Given the description of an element on the screen output the (x, y) to click on. 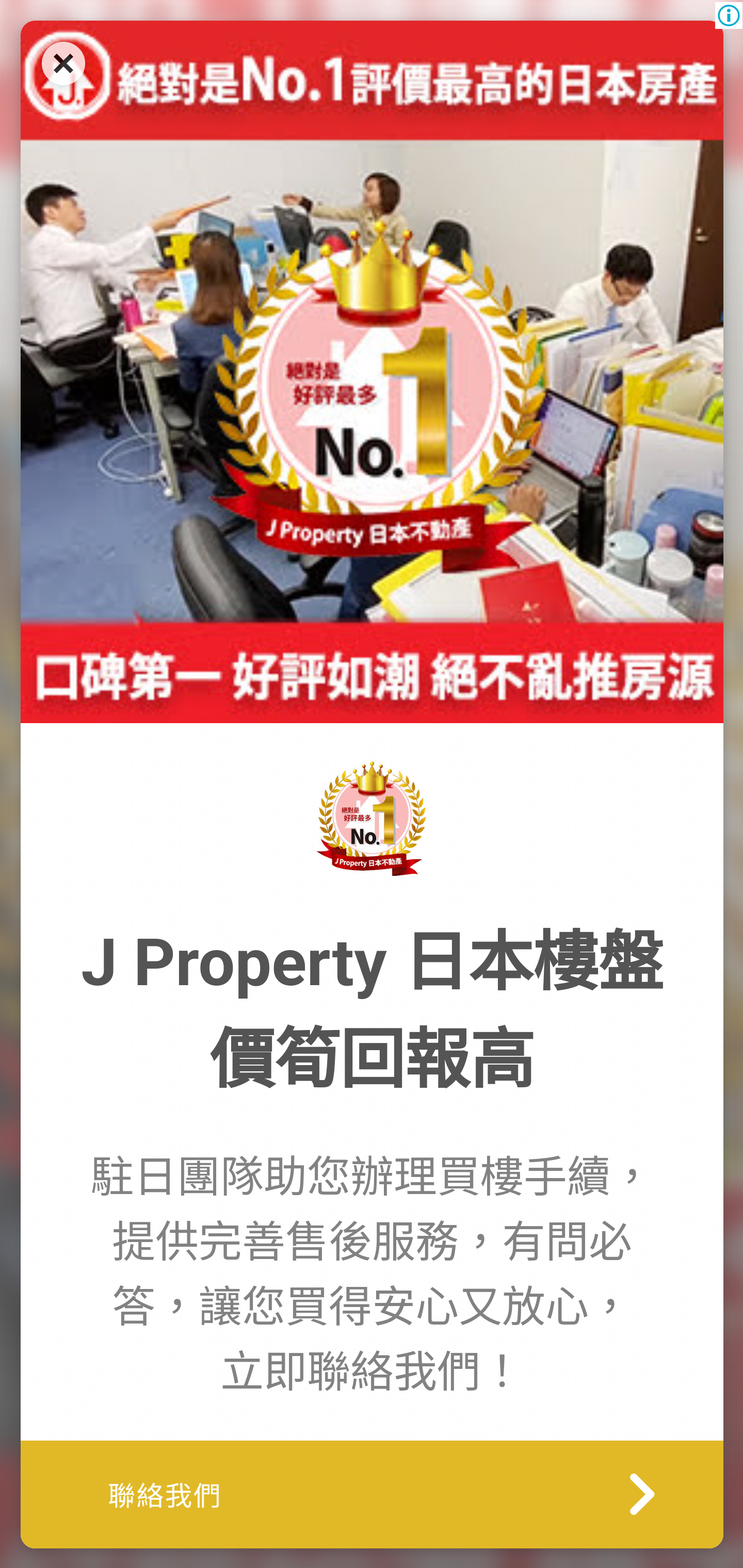
J Property 日本樓盤 價筍回報高 J Property 日本樓盤 
 價筍回報高 (371, 1011)
聯絡我們 (371, 1493)
